Given the description of an element on the screen output the (x, y) to click on. 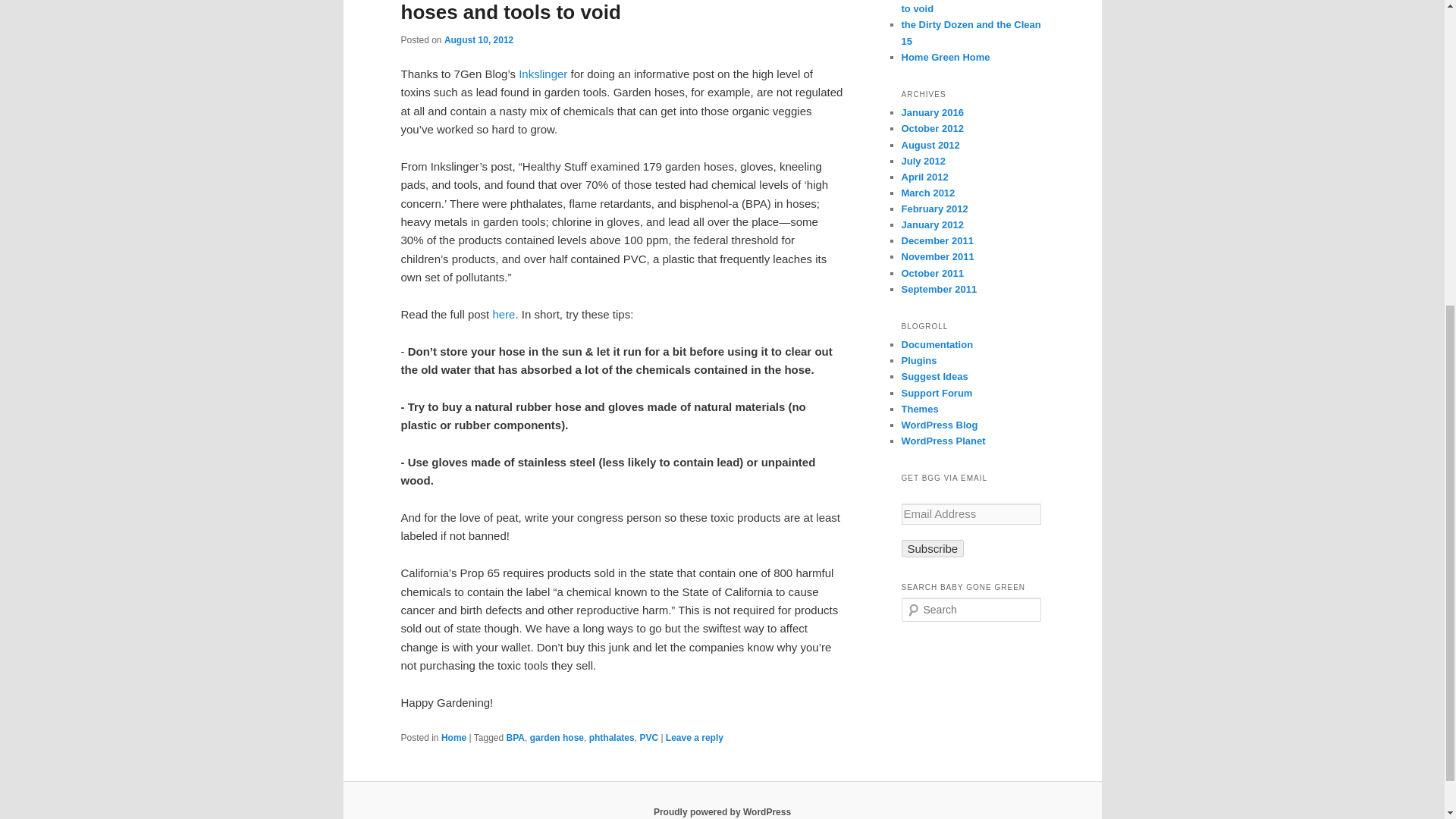
December 2011 (936, 240)
here (503, 314)
View all posts in Home (453, 737)
Leave a reply (694, 737)
phthalates (611, 737)
July 2012 (922, 161)
BPA (515, 737)
garden hose (556, 737)
January 2016 (931, 112)
October 2011 (931, 272)
January 2012 (931, 224)
September 2011 (938, 288)
the Dirty Dozen and the Clean 15 (971, 31)
November 2011 (937, 256)
Home (453, 737)
